Given the description of an element on the screen output the (x, y) to click on. 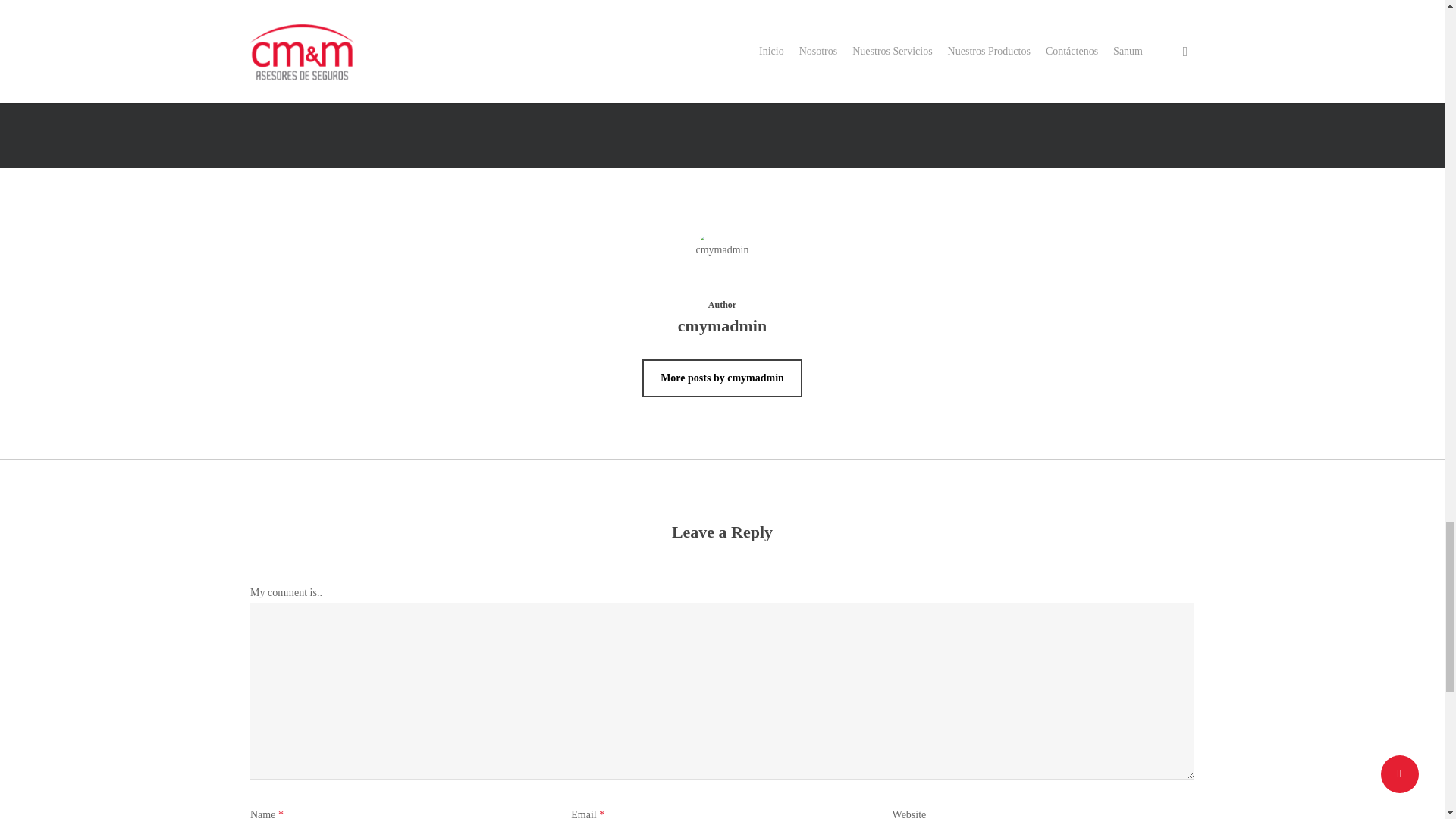
More posts by cmymadmin (722, 378)
